Given the description of an element on the screen output the (x, y) to click on. 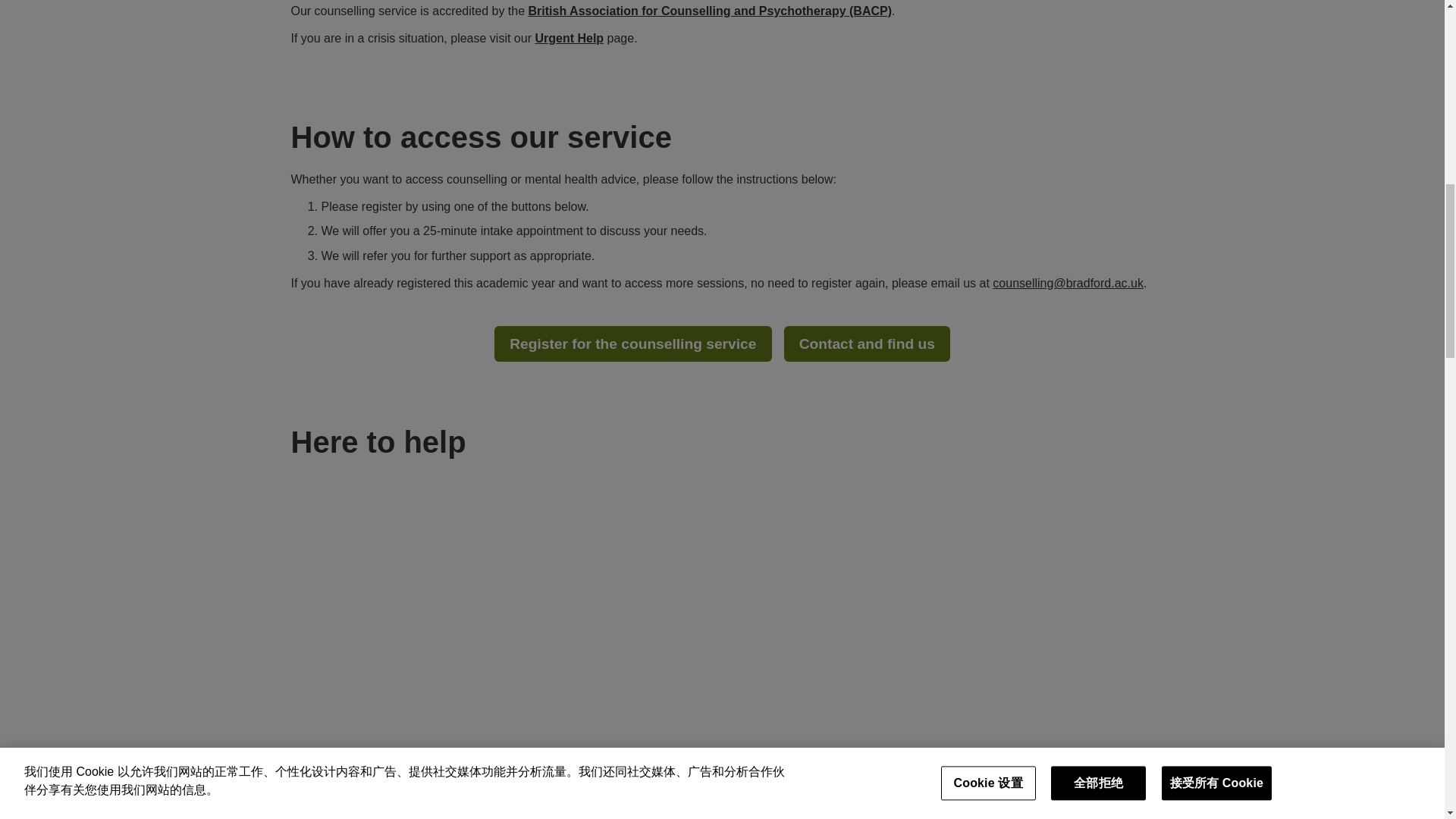
Register for the counselling service (633, 343)
Contact and find us (867, 343)
Urgent Help (569, 38)
